Given the description of an element on the screen output the (x, y) to click on. 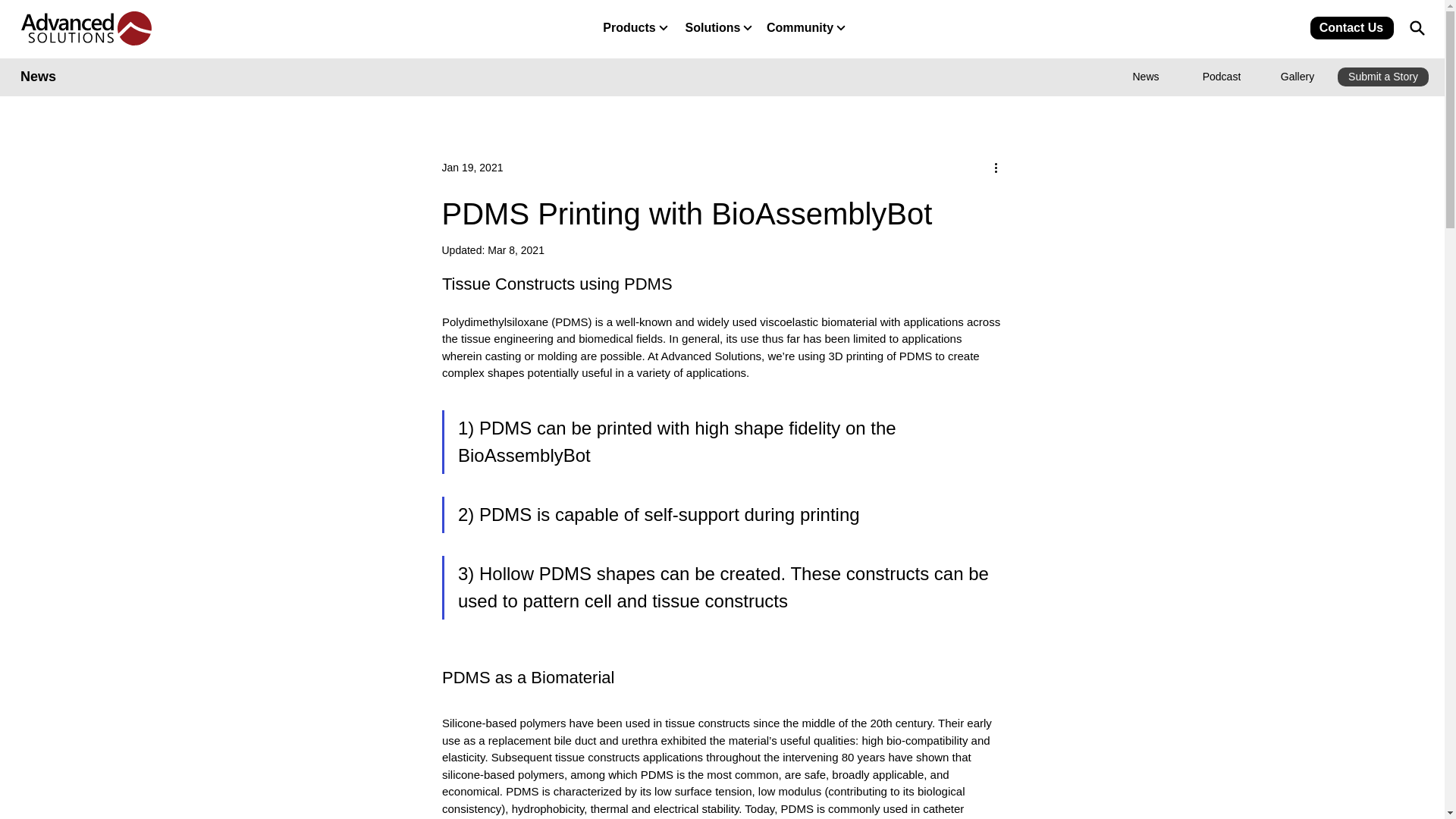
Jan 19, 2021 (471, 167)
Community (805, 27)
Contact Us (1351, 27)
Mar 8, 2021 (515, 250)
Gallery (1298, 76)
Podcast (1222, 76)
Products (635, 27)
Submit a Story (1383, 76)
Solutions (718, 27)
News (1147, 76)
